Given the description of an element on the screen output the (x, y) to click on. 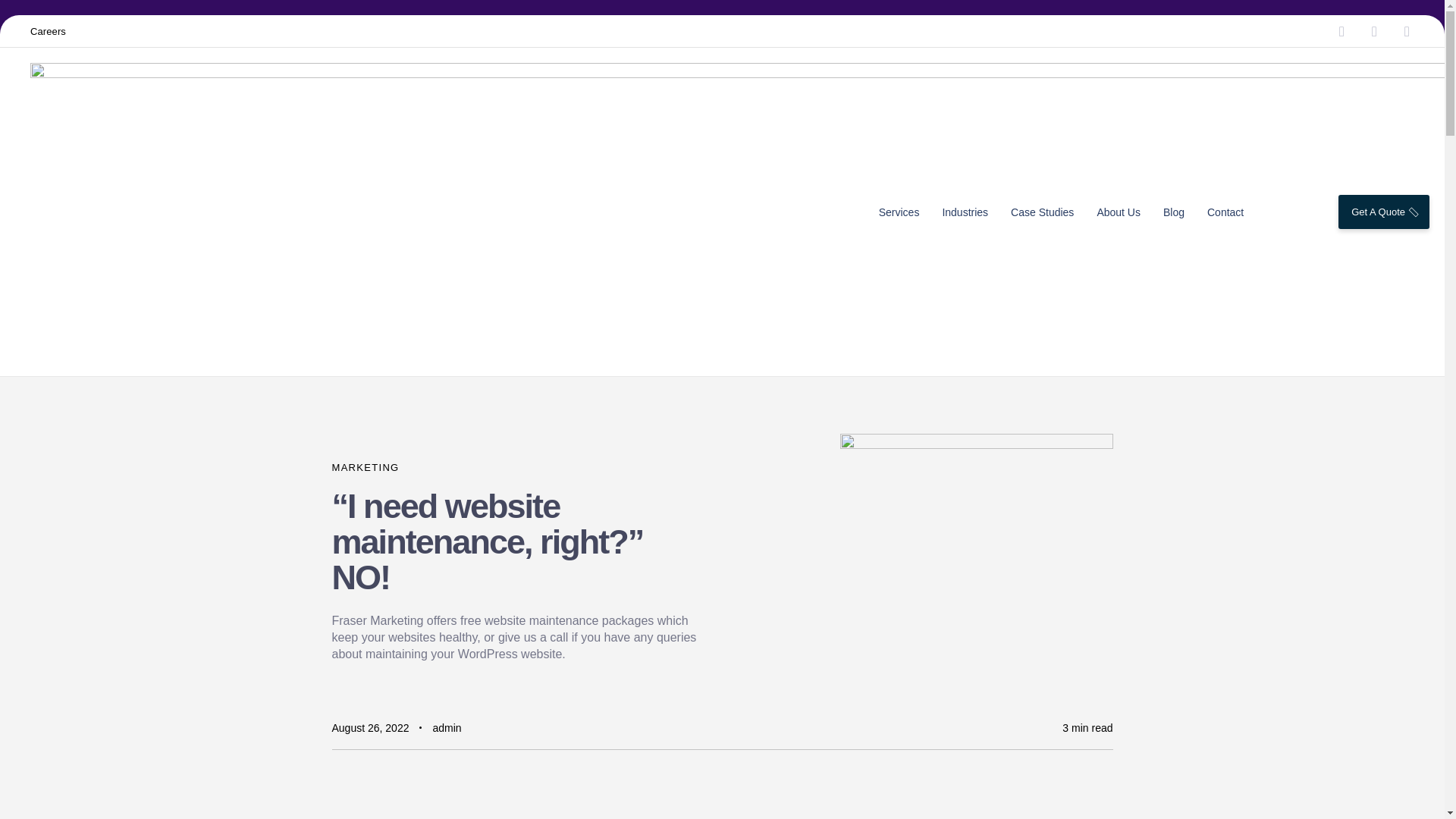
Posts by admin (446, 727)
Get A Quote (1383, 211)
Careers (47, 30)
